Given the description of an element on the screen output the (x, y) to click on. 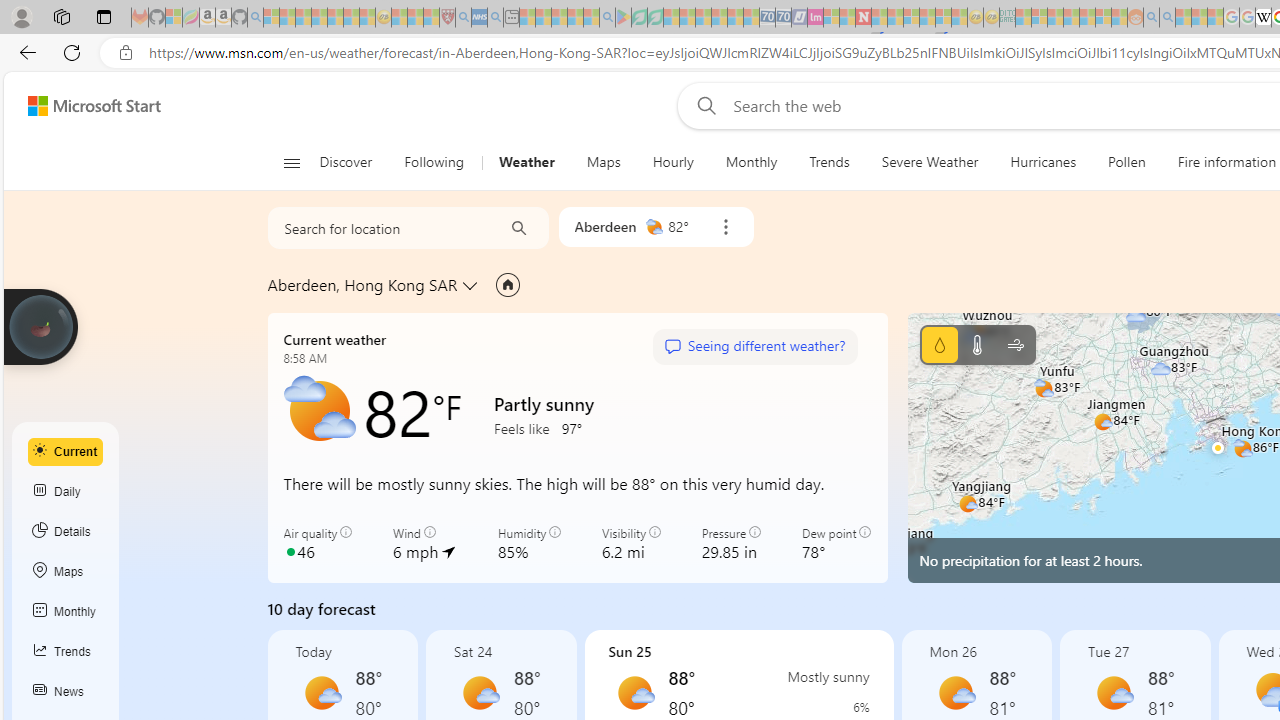
Maps (603, 162)
Search for location (379, 227)
Latest Politics News & Archive | Newsweek.com - Sleeping (863, 17)
Maps (65, 572)
Wind (1015, 344)
Monthly (751, 162)
Trends (829, 162)
